Given the description of an element on the screen output the (x, y) to click on. 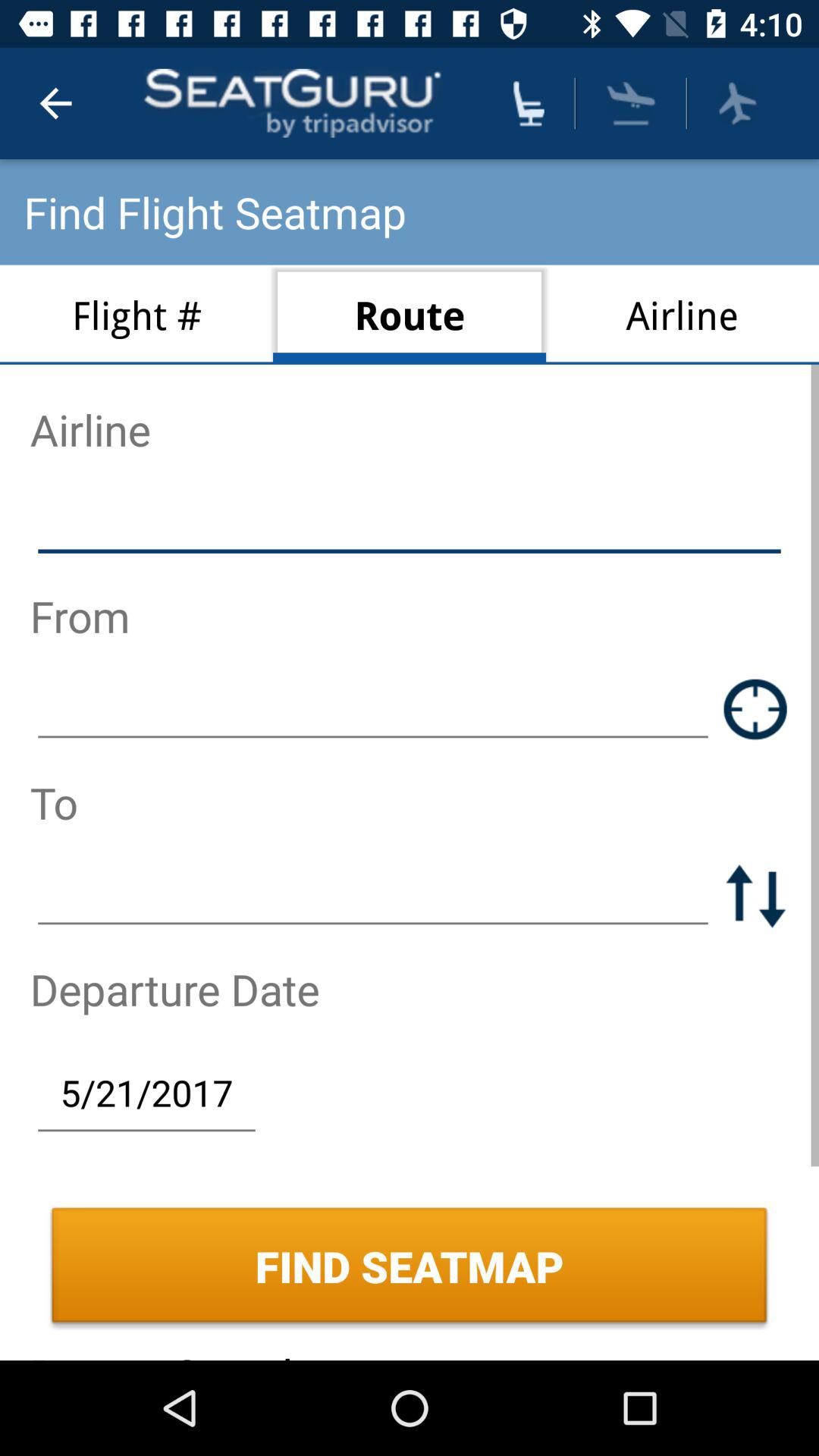
click the icon above route icon (528, 103)
